Given the description of an element on the screen output the (x, y) to click on. 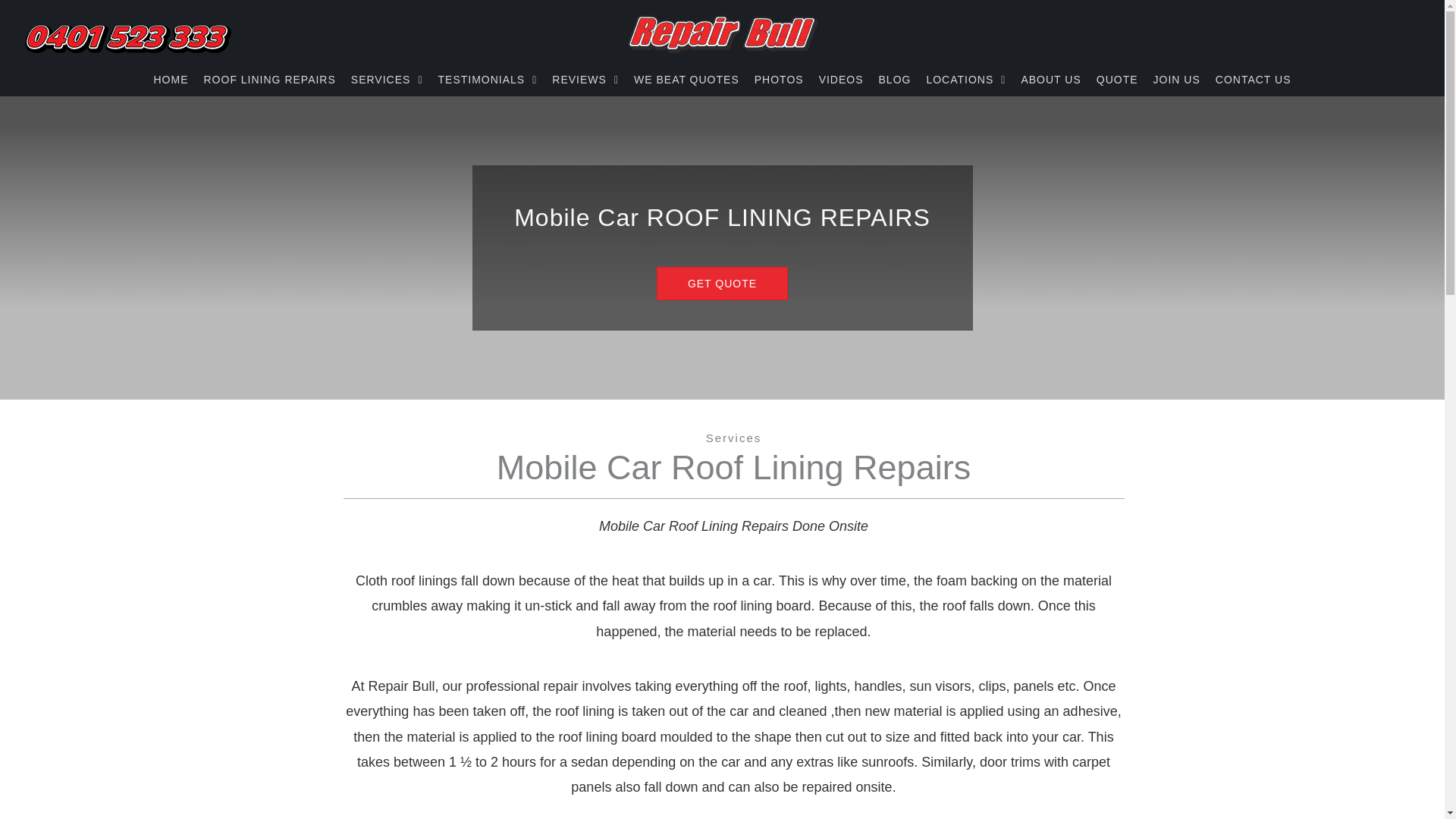
WE BEAT QUOTES (686, 79)
QUOTE (1117, 79)
HOME (170, 79)
BLOG (895, 79)
PHOTOS (779, 79)
REVIEWS (585, 79)
TESTIMONIALS (486, 79)
VIDEOS (841, 79)
ABOUT US (1050, 79)
contact-number-0401523333 (128, 39)
SERVICES (386, 79)
ROOF LINING REPAIRS (269, 79)
LOCATIONS (965, 79)
